Given the description of an element on the screen output the (x, y) to click on. 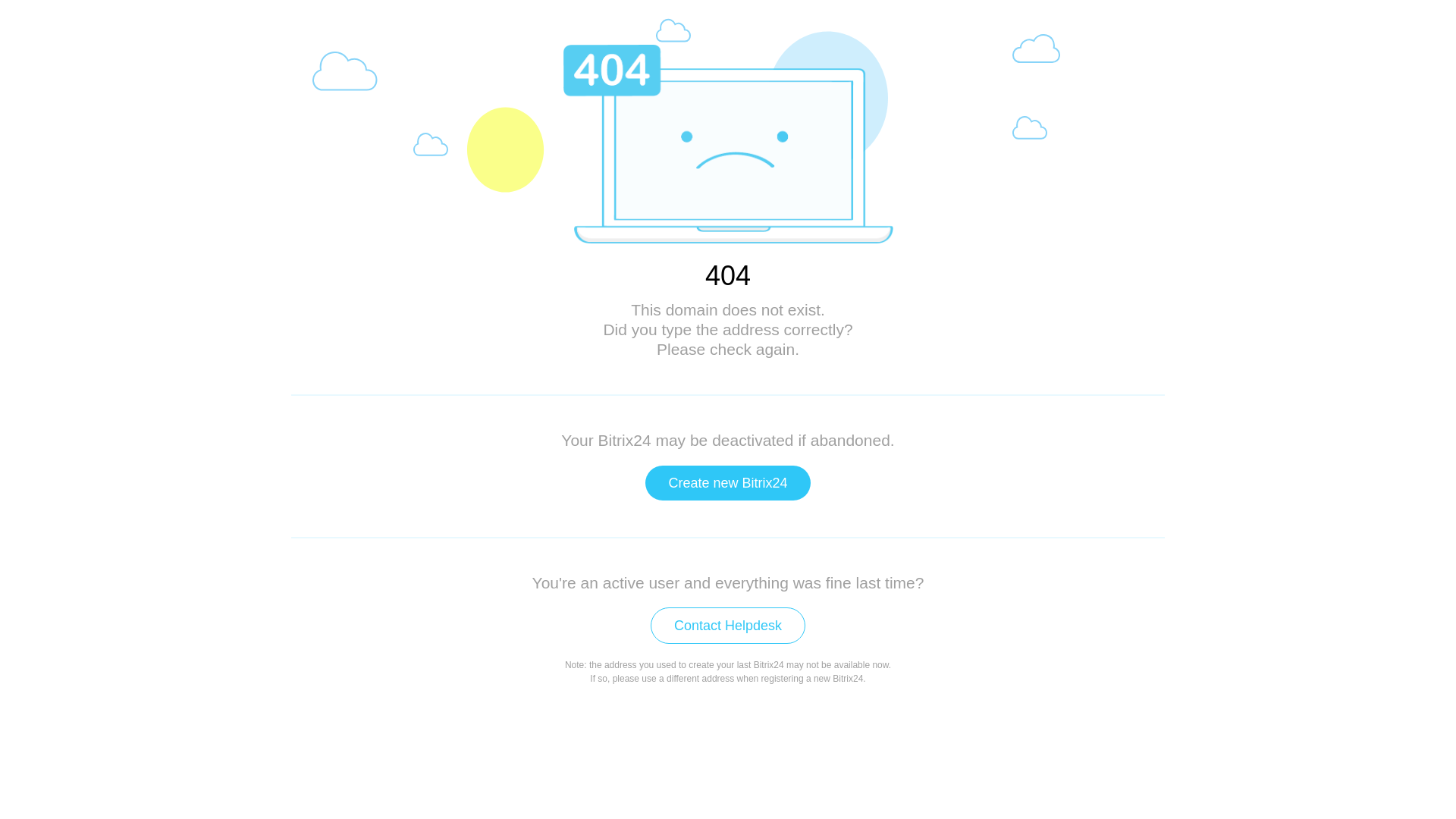
Contact Helpdesk Element type: text (727, 625)
Create new Bitrix24 Element type: text (727, 482)
